Given the description of an element on the screen output the (x, y) to click on. 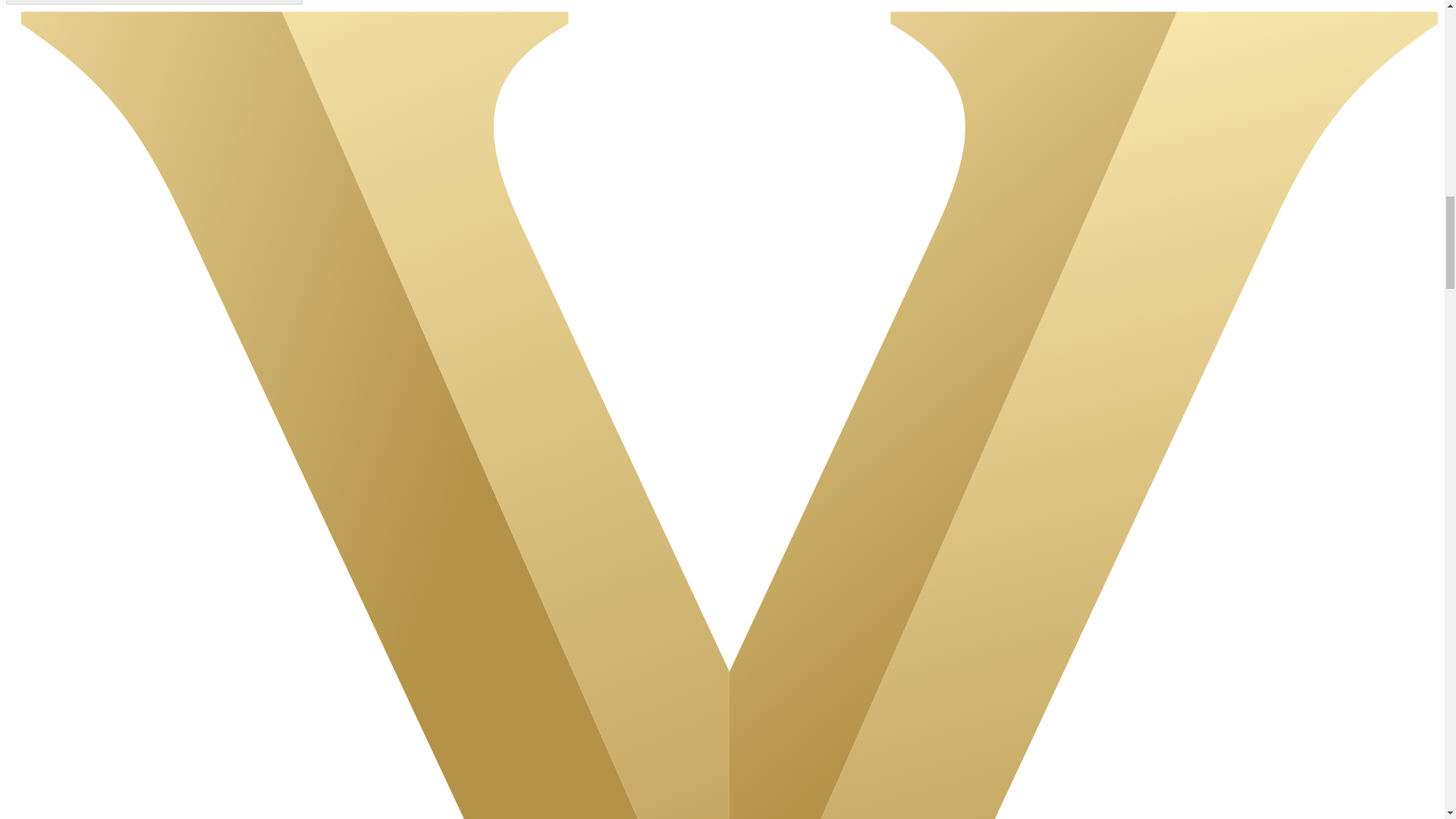
Close Menu (153, 2)
